Given the description of an element on the screen output the (x, y) to click on. 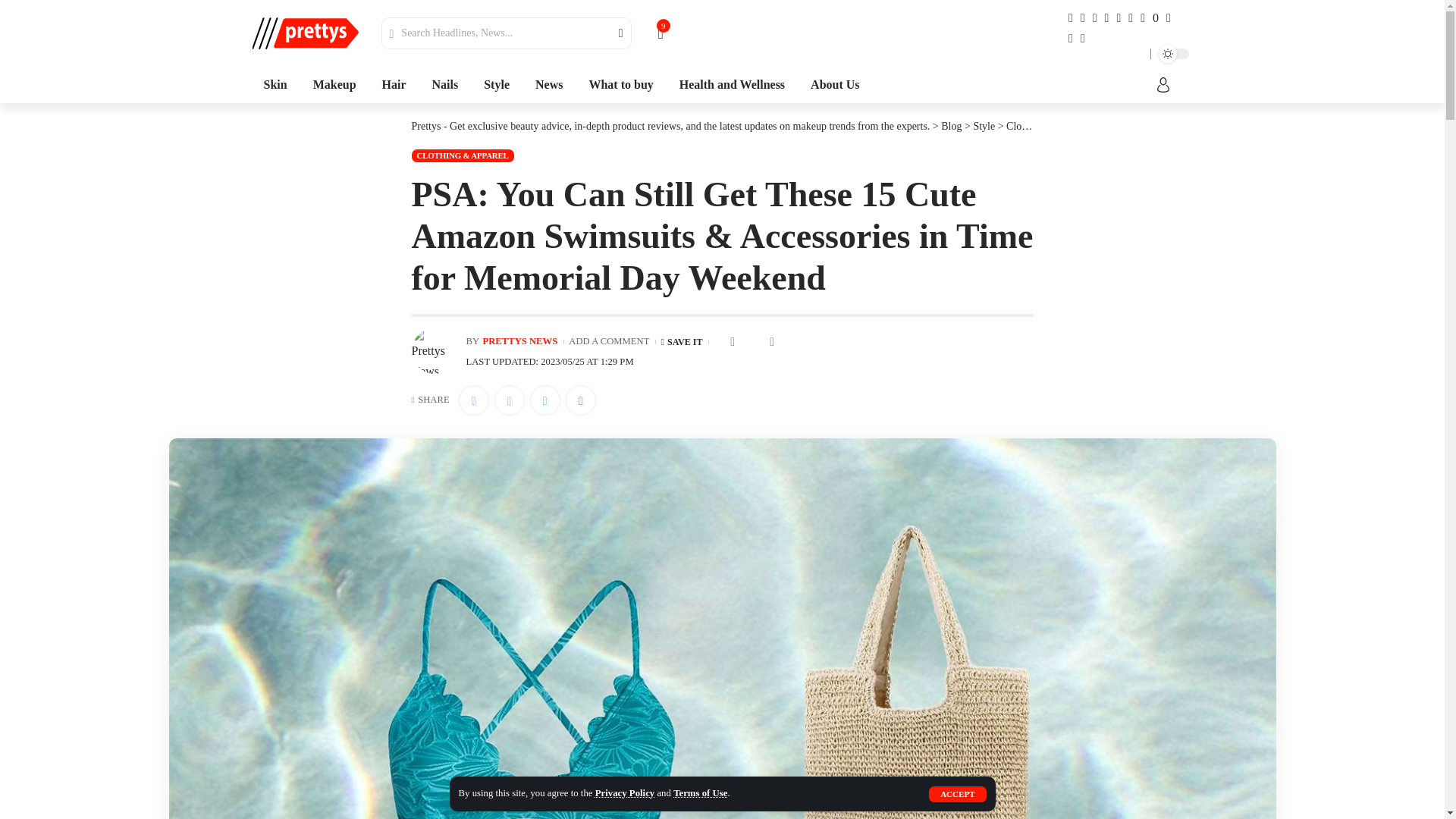
Go to Blog. (950, 125)
Search (611, 33)
Terms of Use (699, 792)
Go to the Style Category archives. (983, 125)
Privacy Policy (625, 792)
ACCEPT (956, 794)
